Given the description of an element on the screen output the (x, y) to click on. 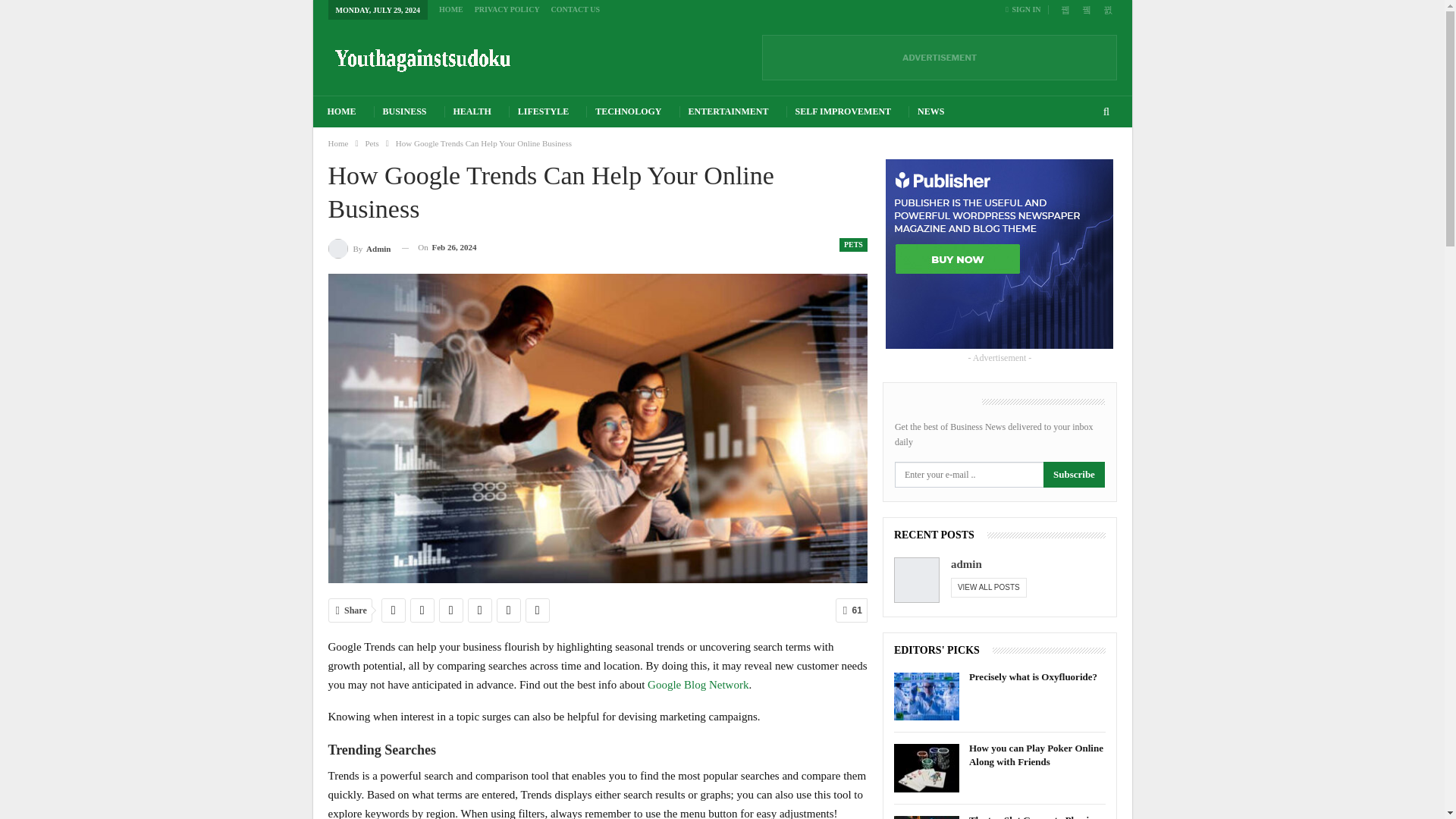
TECHNOLOGY (628, 111)
BUSINESS (404, 111)
PRIVACY POLICY (507, 8)
SIGN IN (1026, 9)
CONTACT US (575, 8)
Precisely what is Oxyfluoride? (926, 696)
HOME (451, 8)
How you can Play Poker Online Along with Friends (926, 767)
Browse Author Articles (358, 247)
LIFESTYLE (543, 111)
HEALTH (471, 111)
ENTERTAINMENT (727, 111)
HOME (341, 111)
